Given the description of an element on the screen output the (x, y) to click on. 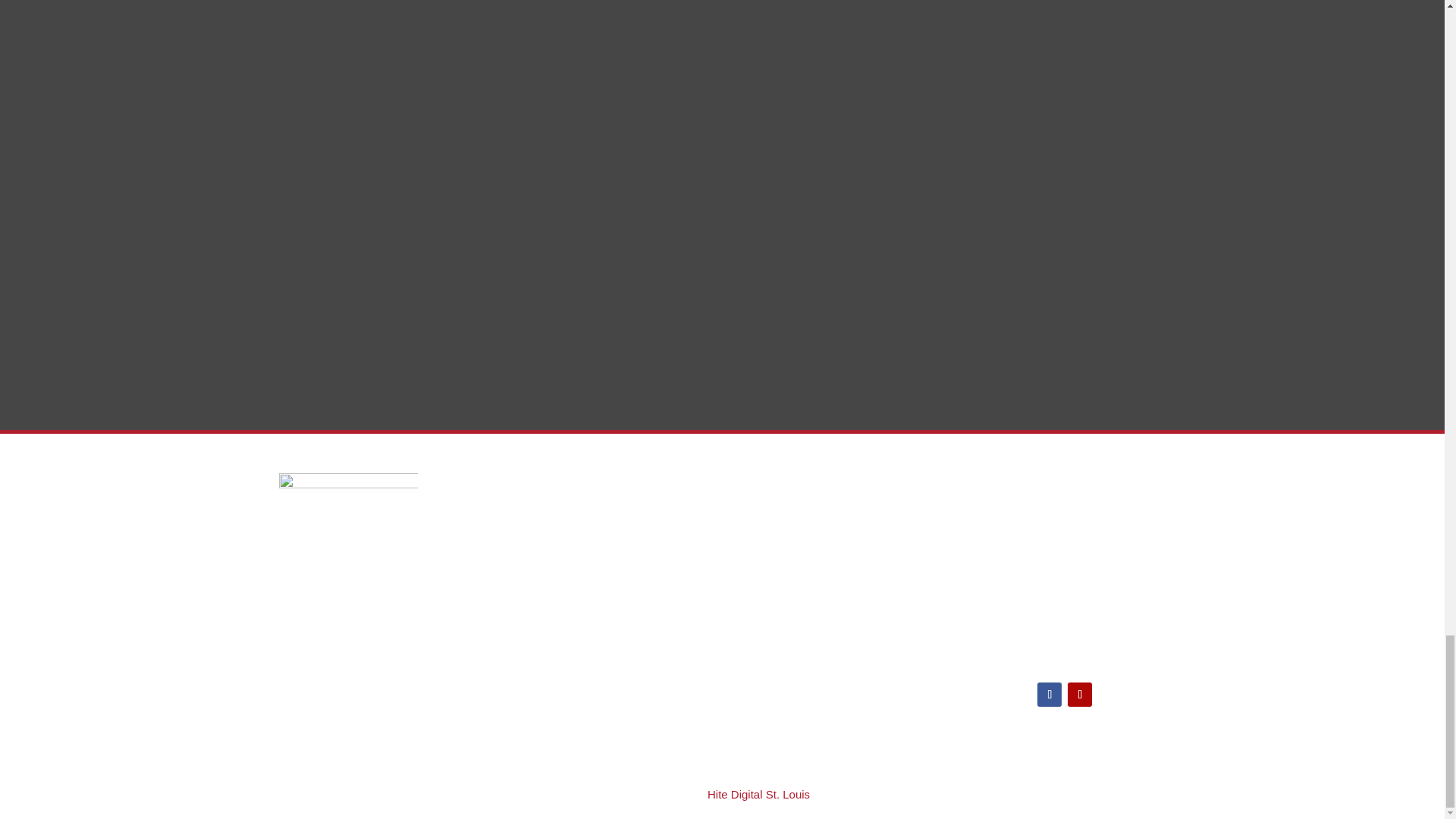
Follow on Yelp (1079, 694)
Follow on Facebook (1048, 694)
Roofing (769, 520)
Windows (771, 545)
Favicon (349, 542)
Hite Digital St. Louis (758, 793)
Exteriors (771, 570)
Services (762, 478)
